Given the description of an element on the screen output the (x, y) to click on. 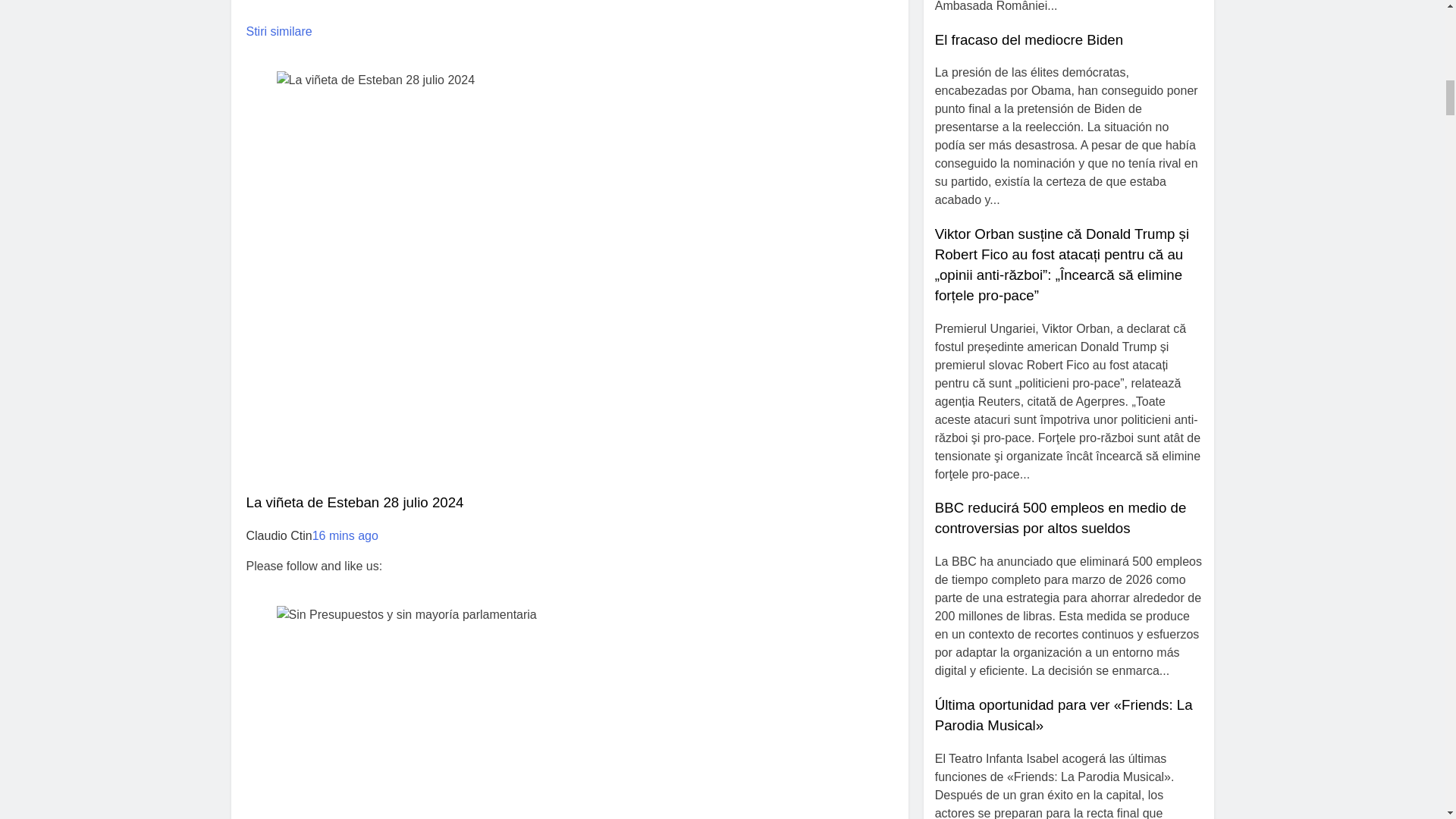
Stiri similare (278, 31)
Claudio Ctin (278, 535)
El fracaso del mediocre Biden (1028, 39)
16 mins ago (345, 535)
